Given the description of an element on the screen output the (x, y) to click on. 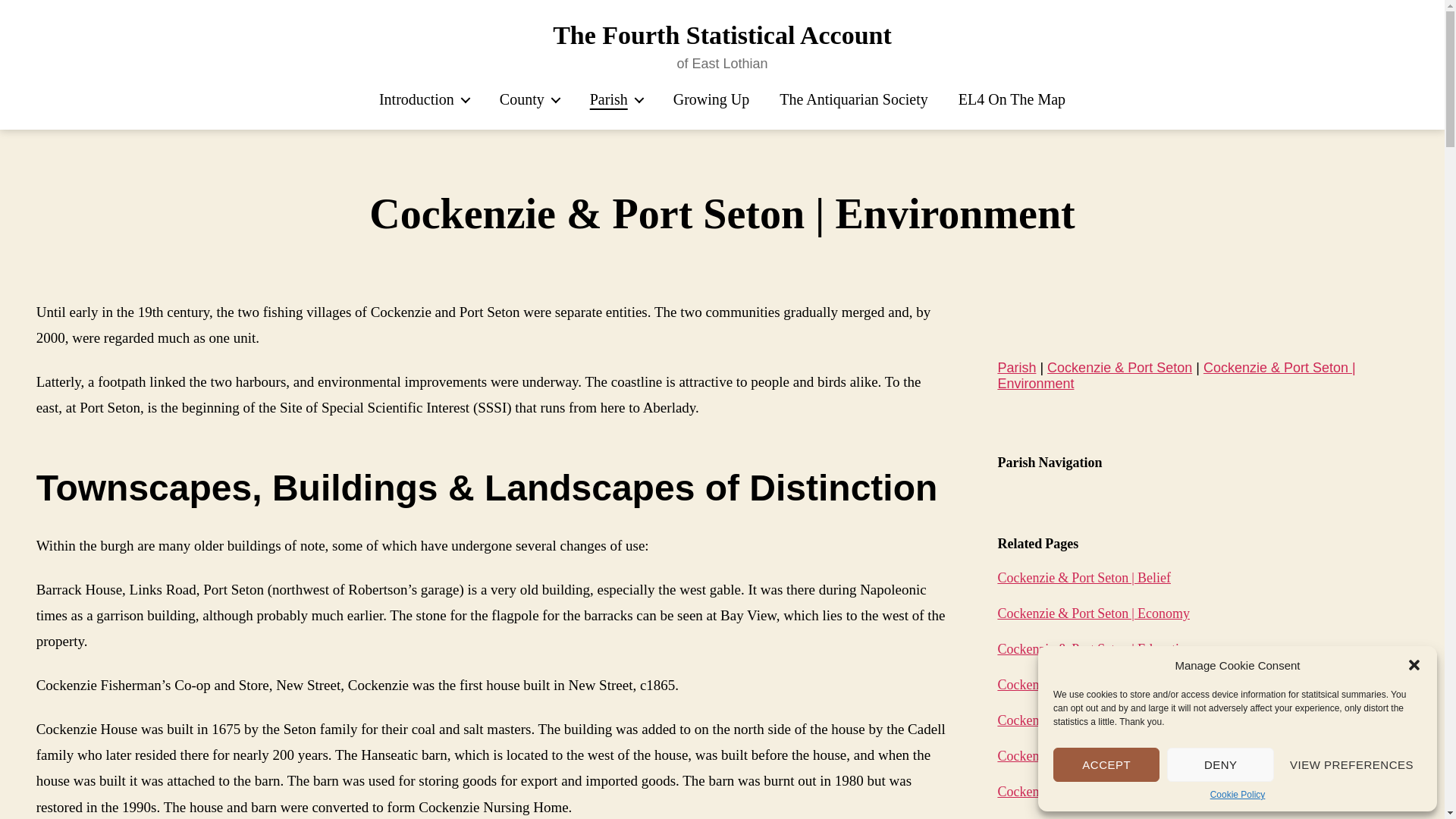
ACCEPT (1105, 764)
Cookie Policy (1237, 794)
County (529, 99)
VIEW PREFERENCES (1351, 764)
The Fourth Statistical Account (722, 35)
DENY (1219, 764)
Introduction (423, 99)
